Given the description of an element on the screen output the (x, y) to click on. 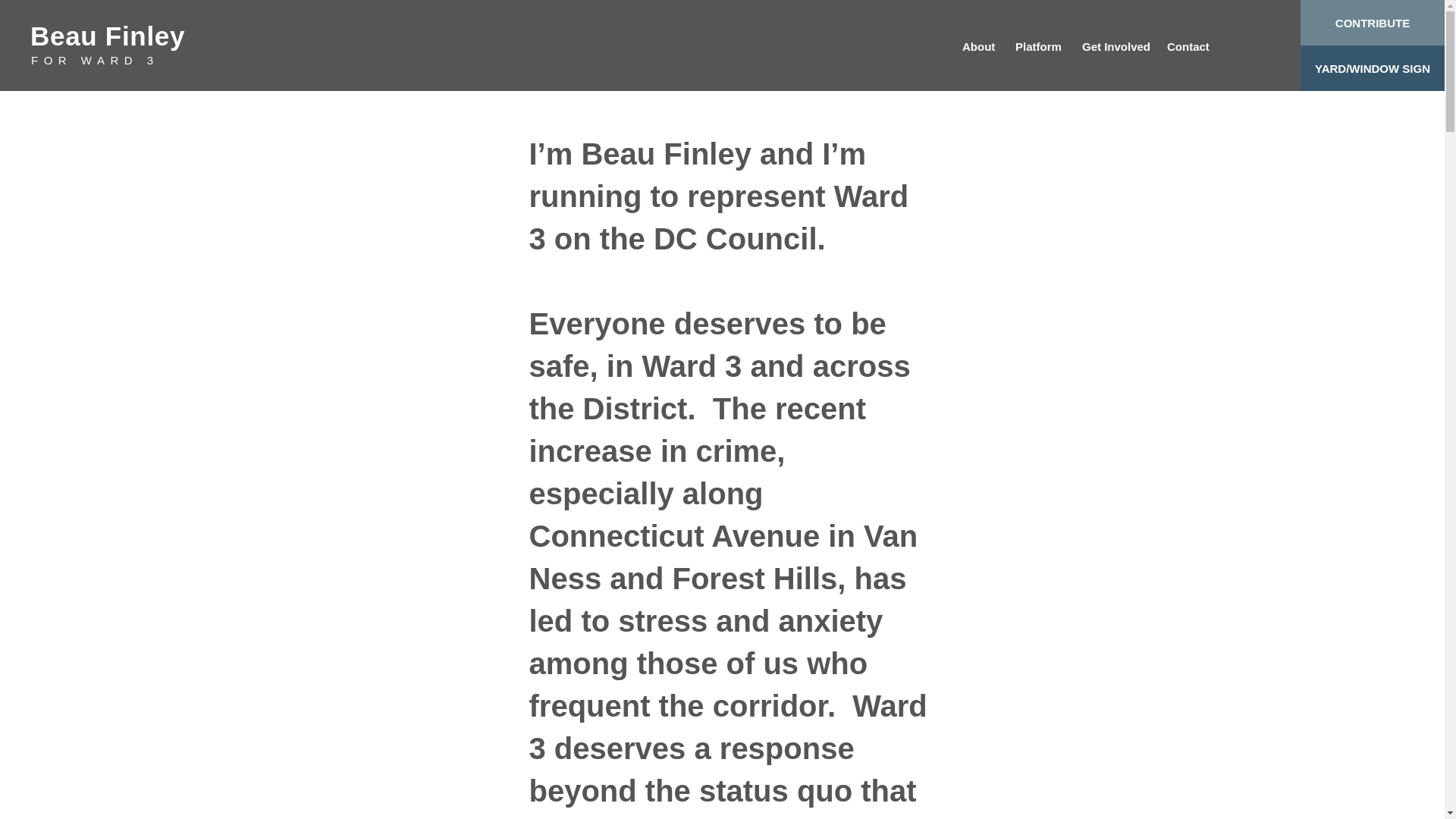
Platform (1037, 46)
Get Involved (1113, 46)
FOR WARD 3 (94, 60)
About (977, 46)
Contact (1187, 46)
Beau Finley (107, 35)
